Given the description of an element on the screen output the (x, y) to click on. 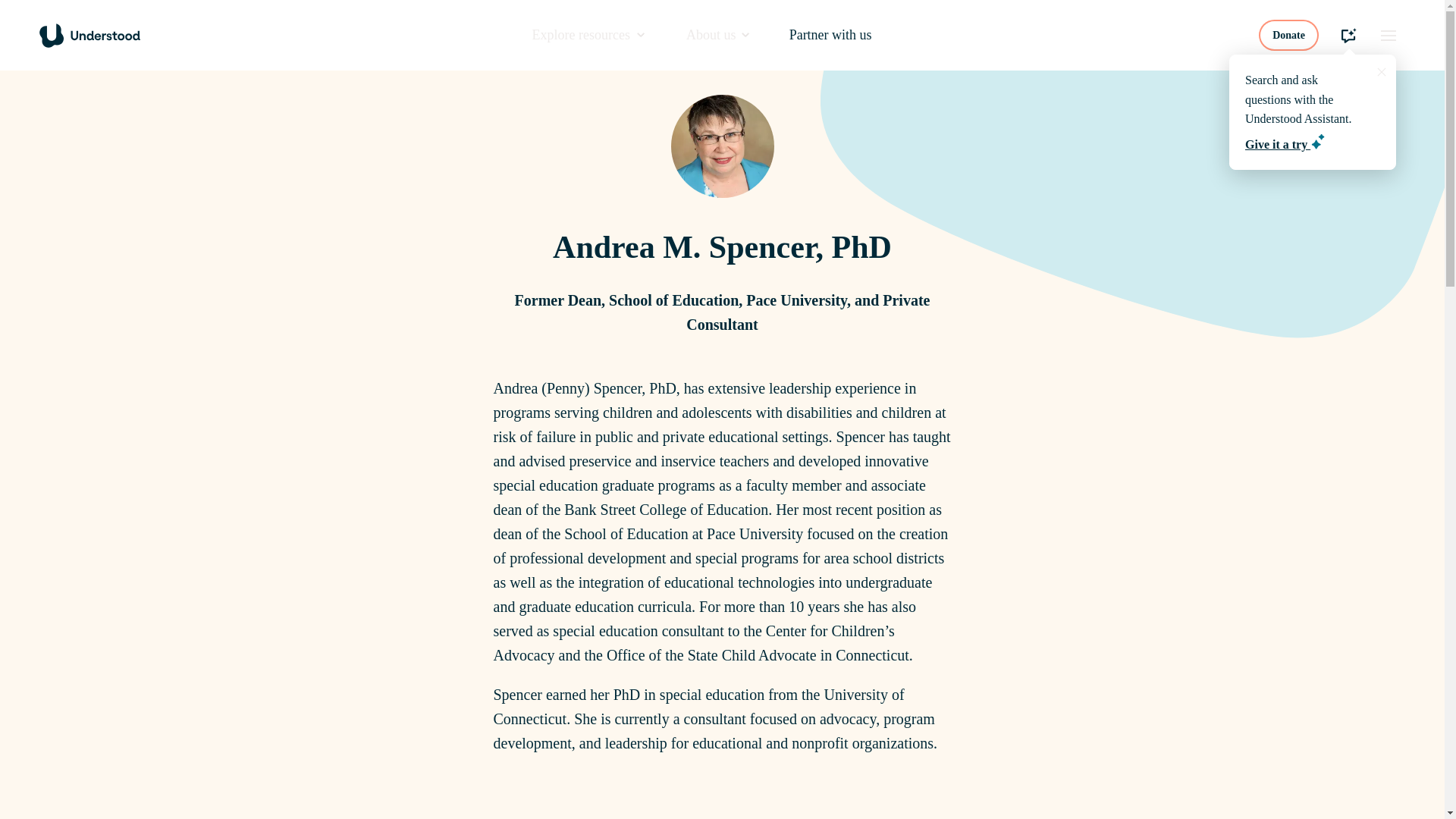
Understood AI Assistant (1348, 34)
Explore resources (587, 34)
Open menu (1388, 34)
About us (716, 34)
Donate (1288, 35)
Partner with us (830, 34)
Give it a try (1284, 144)
